Given the description of an element on the screen output the (x, y) to click on. 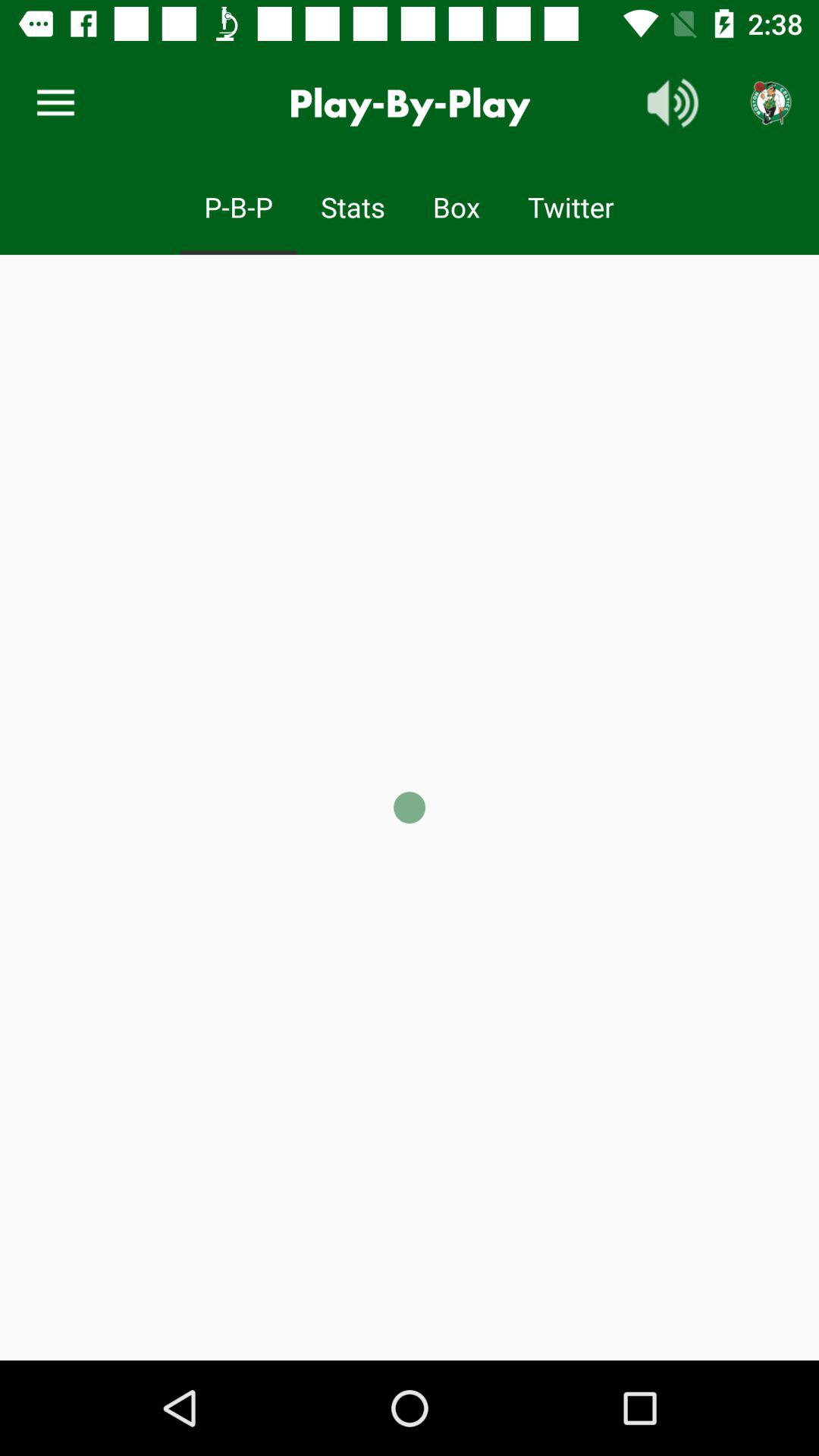
turn on item to the left of the play-by-play item (55, 103)
